Given the description of an element on the screen output the (x, y) to click on. 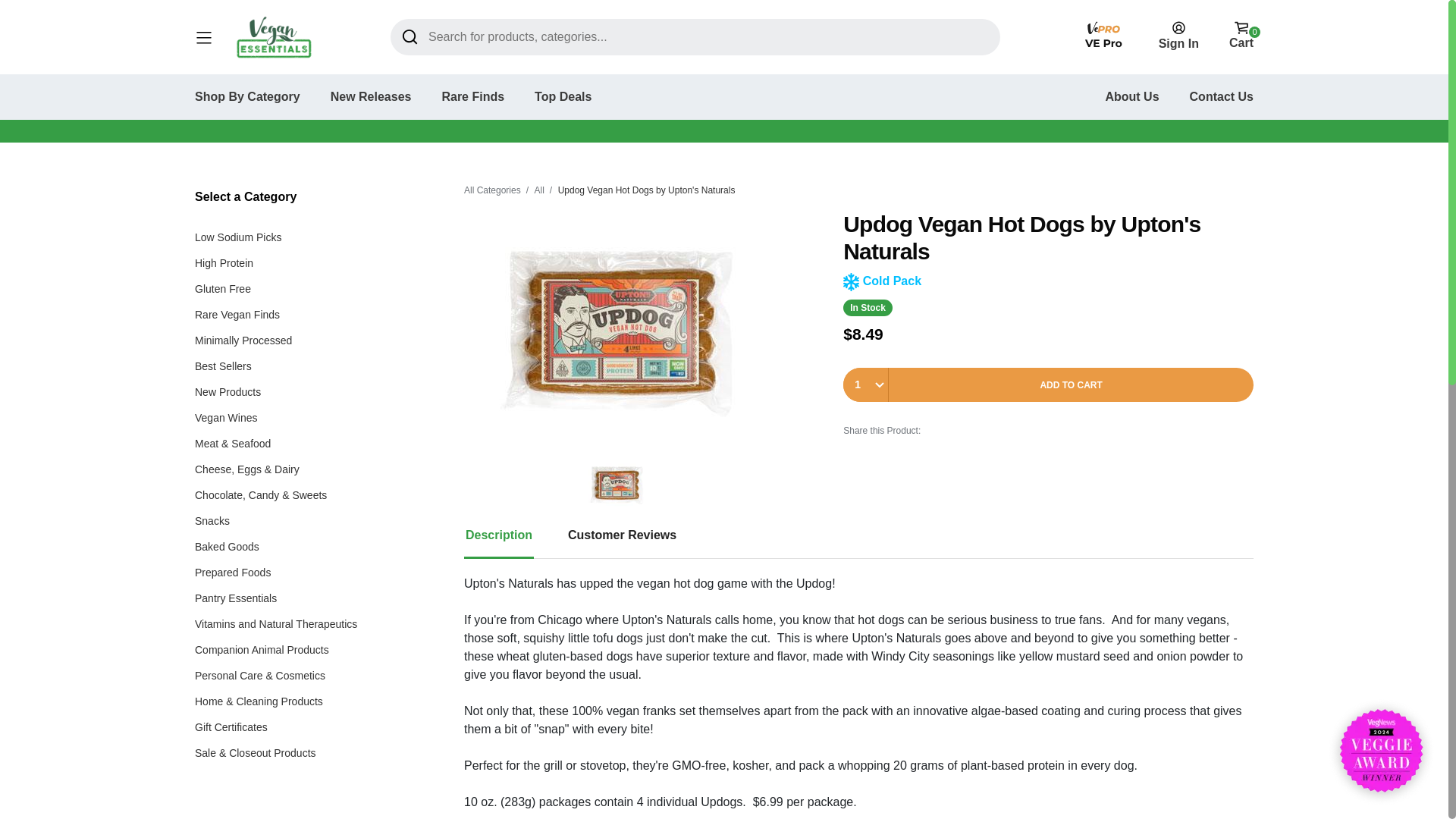
Shop By Category (247, 96)
Sign In (1178, 35)
Low Sodium Picks (238, 236)
Best Sellers (223, 366)
New Releases (371, 96)
Top Deals (562, 96)
About Us (1131, 96)
Gluten Free (222, 288)
High Protein (224, 263)
Rare Vegan Finds (237, 314)
Minimally Processed (243, 340)
Rare Finds (472, 96)
Contact Us (1221, 96)
